Given the description of an element on the screen output the (x, y) to click on. 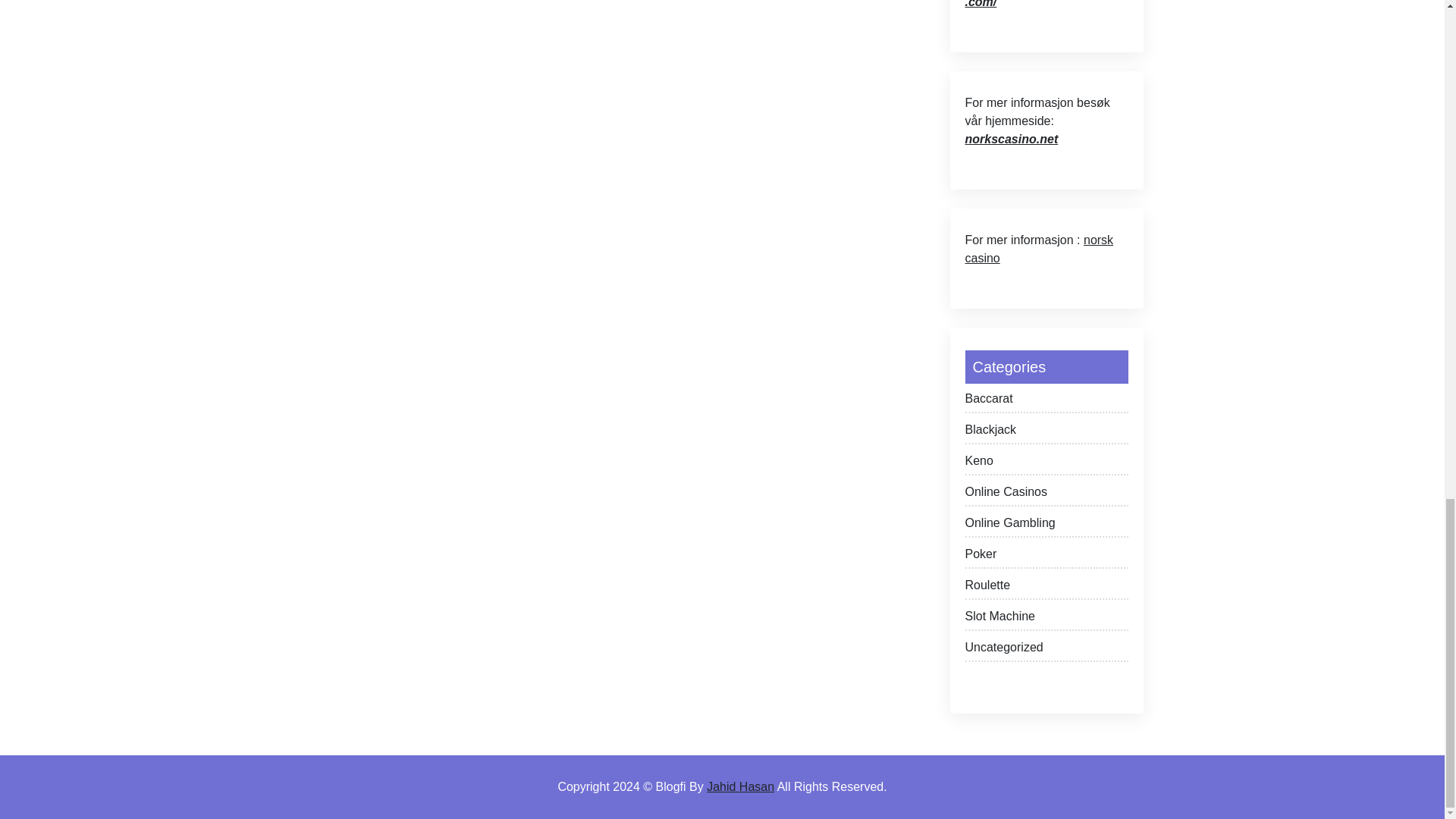
norsk casino (1038, 248)
Jahid Hasan (740, 786)
Online Gambling (1044, 525)
Roulette (1044, 587)
Online Casinos (1044, 494)
Blackjack (1044, 432)
norkscasino.net (1010, 138)
Uncategorized (1044, 649)
Poker (1044, 556)
Slot Machine (1044, 618)
Keno (1044, 463)
Baccarat (1044, 401)
